Given the description of an element on the screen output the (x, y) to click on. 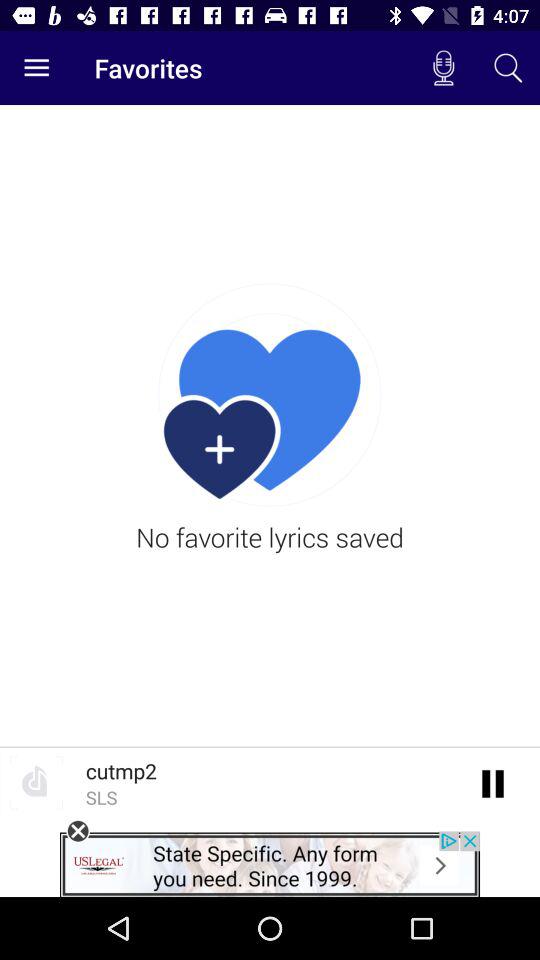
open an advertisements (270, 864)
